Given the description of an element on the screen output the (x, y) to click on. 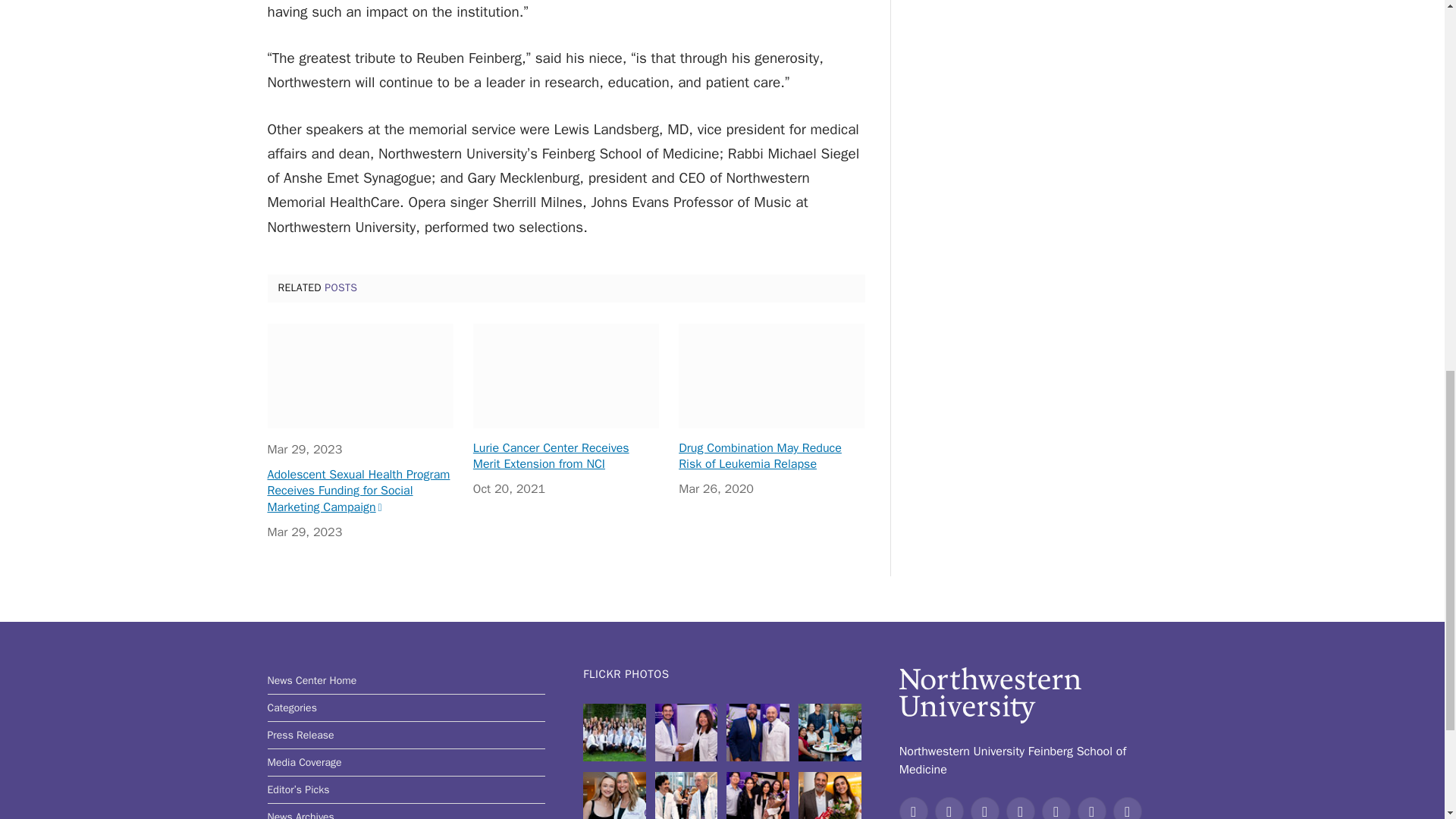
Lurie Cancer Center Receives Merit Extension from NCI (566, 375)
Drug Combination May Reduce Risk of Leukemia Relapse (771, 375)
